Given the description of an element on the screen output the (x, y) to click on. 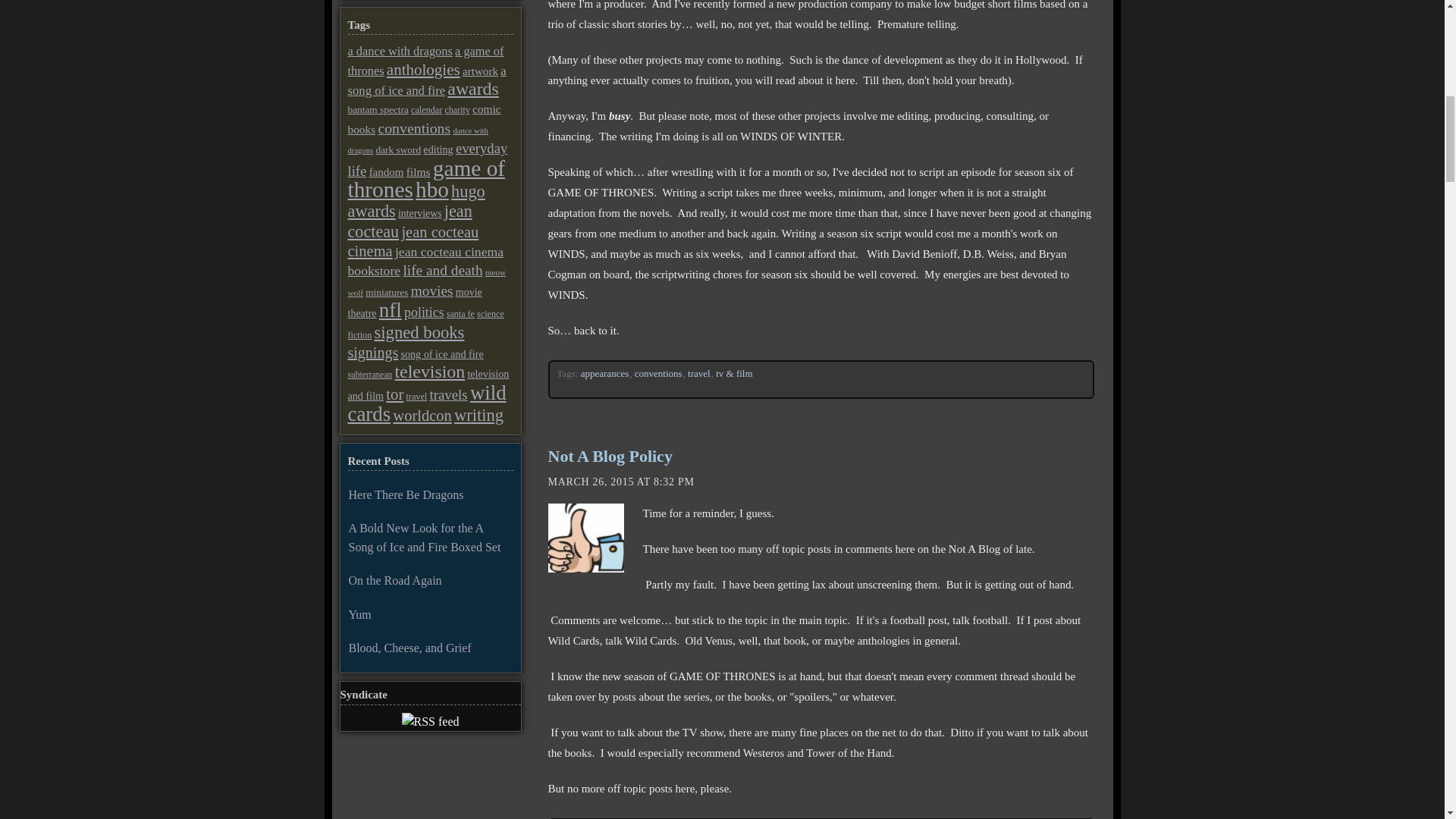
appearances (605, 373)
travel (699, 373)
Not A Blog Policy (609, 456)
conventions (658, 373)
